Given the description of an element on the screen output the (x, y) to click on. 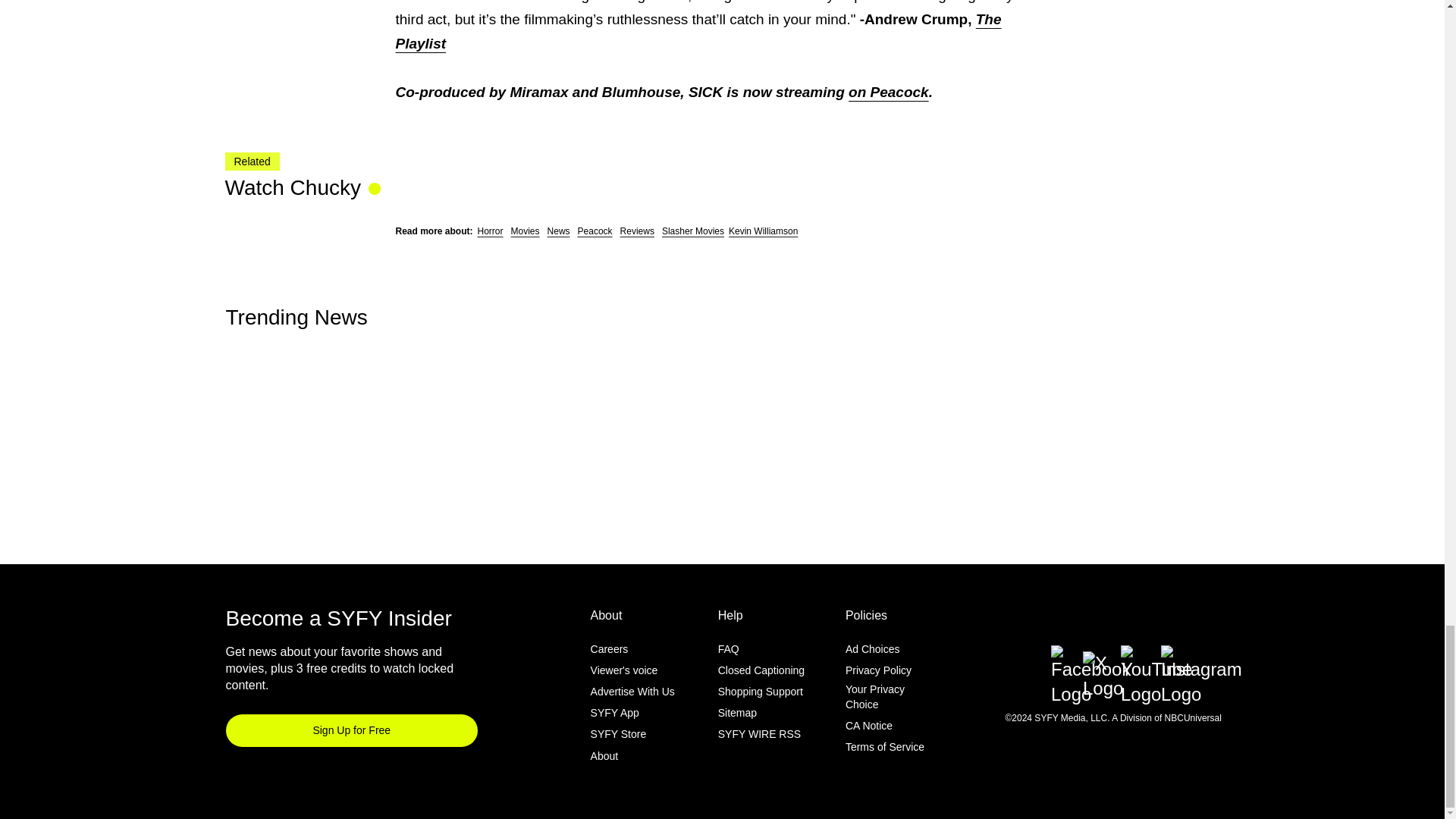
Advertise With Us (633, 691)
on Peacock (888, 91)
The Playlist (698, 31)
News (558, 230)
Movies (525, 230)
Horror (490, 230)
